Given the description of an element on the screen output the (x, y) to click on. 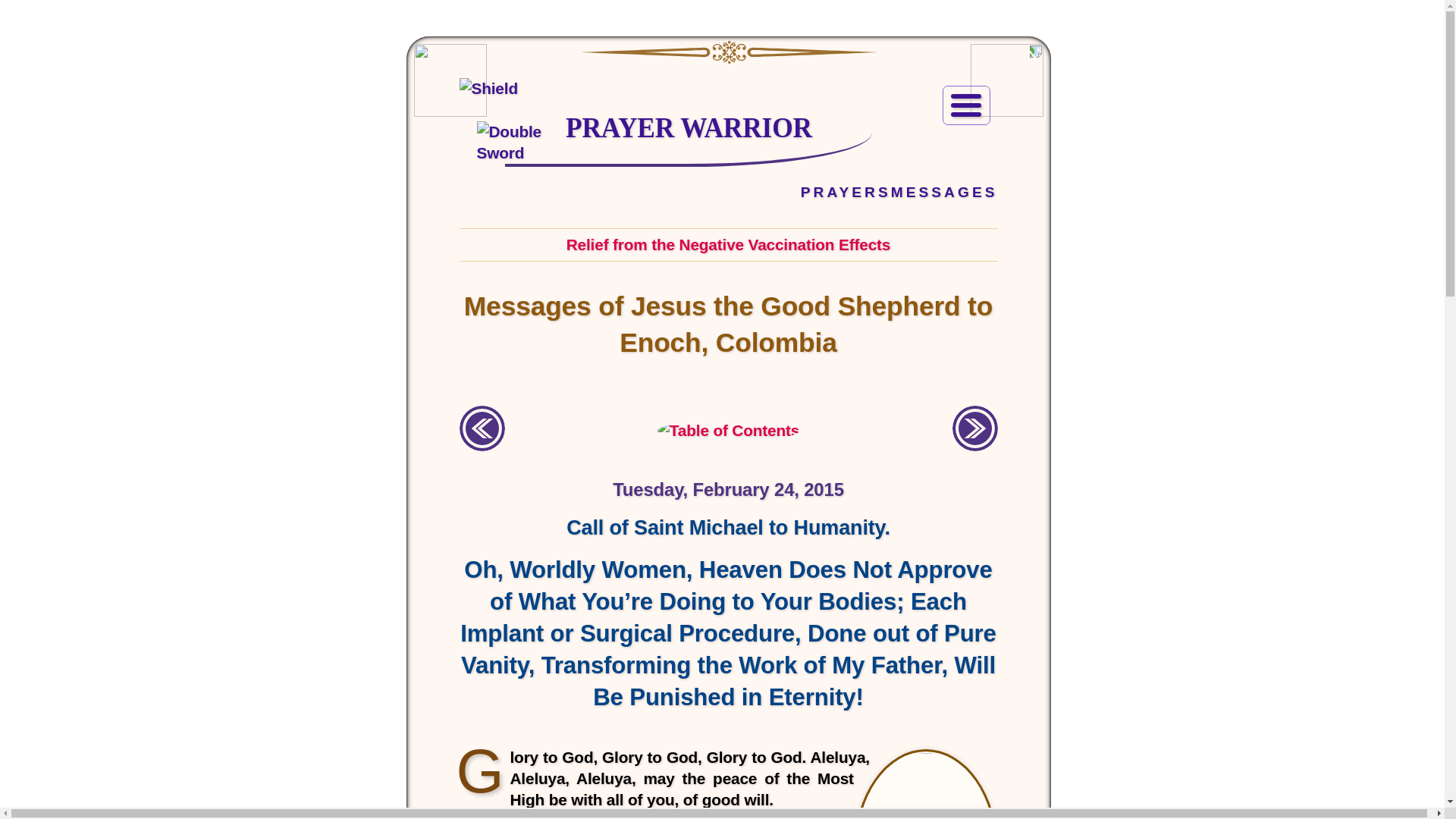
PRAYER WARRIOR (689, 127)
